Given the description of an element on the screen output the (x, y) to click on. 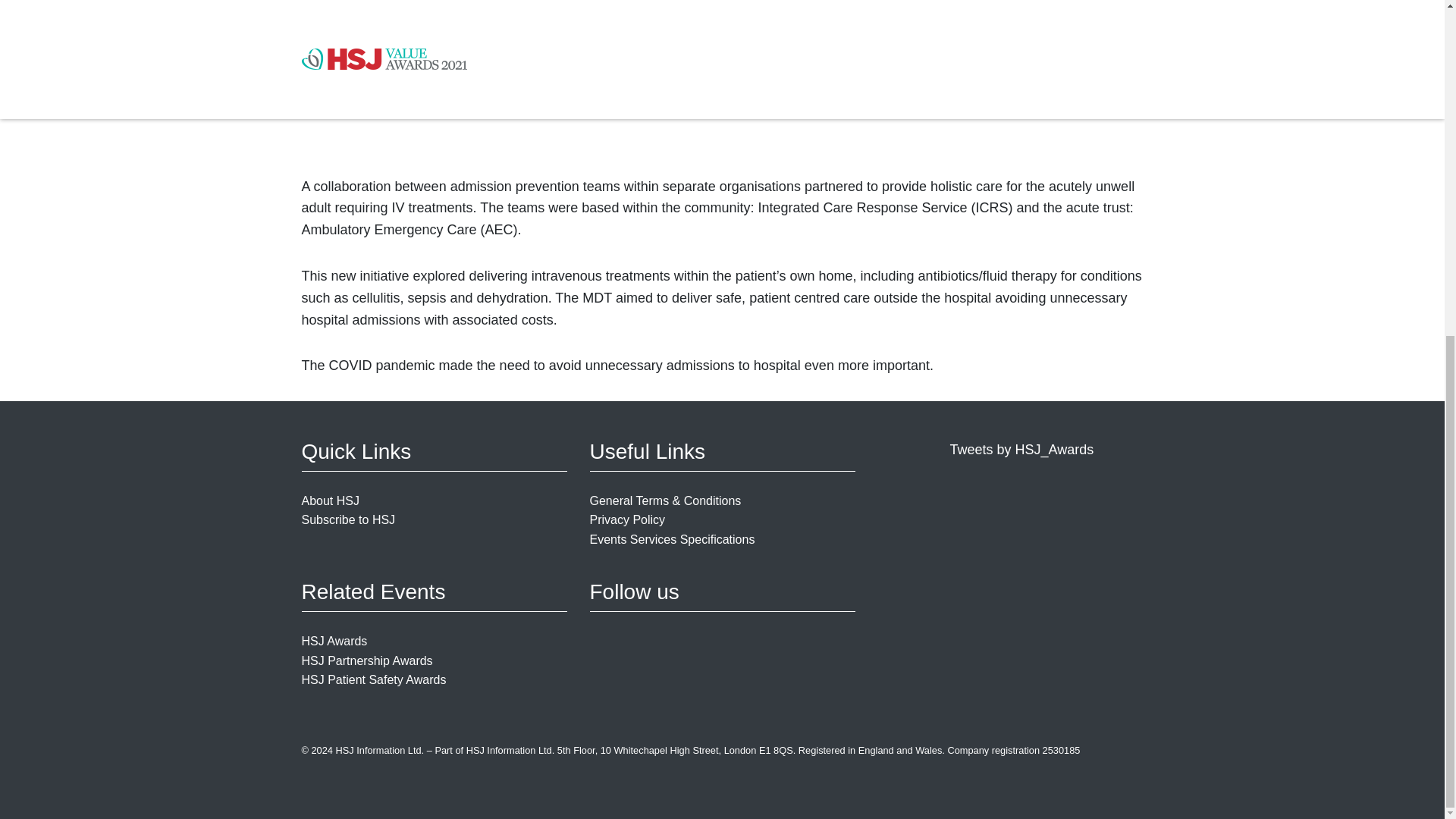
HSJ Partnership Awards (366, 660)
Privacy Policy (627, 519)
Subscribe to HSJ (348, 519)
HSJ Patient Safety Awards (373, 679)
About HSJ (330, 500)
Events Services Specifications (672, 539)
HSJ Awards (334, 640)
